Given the description of an element on the screen output the (x, y) to click on. 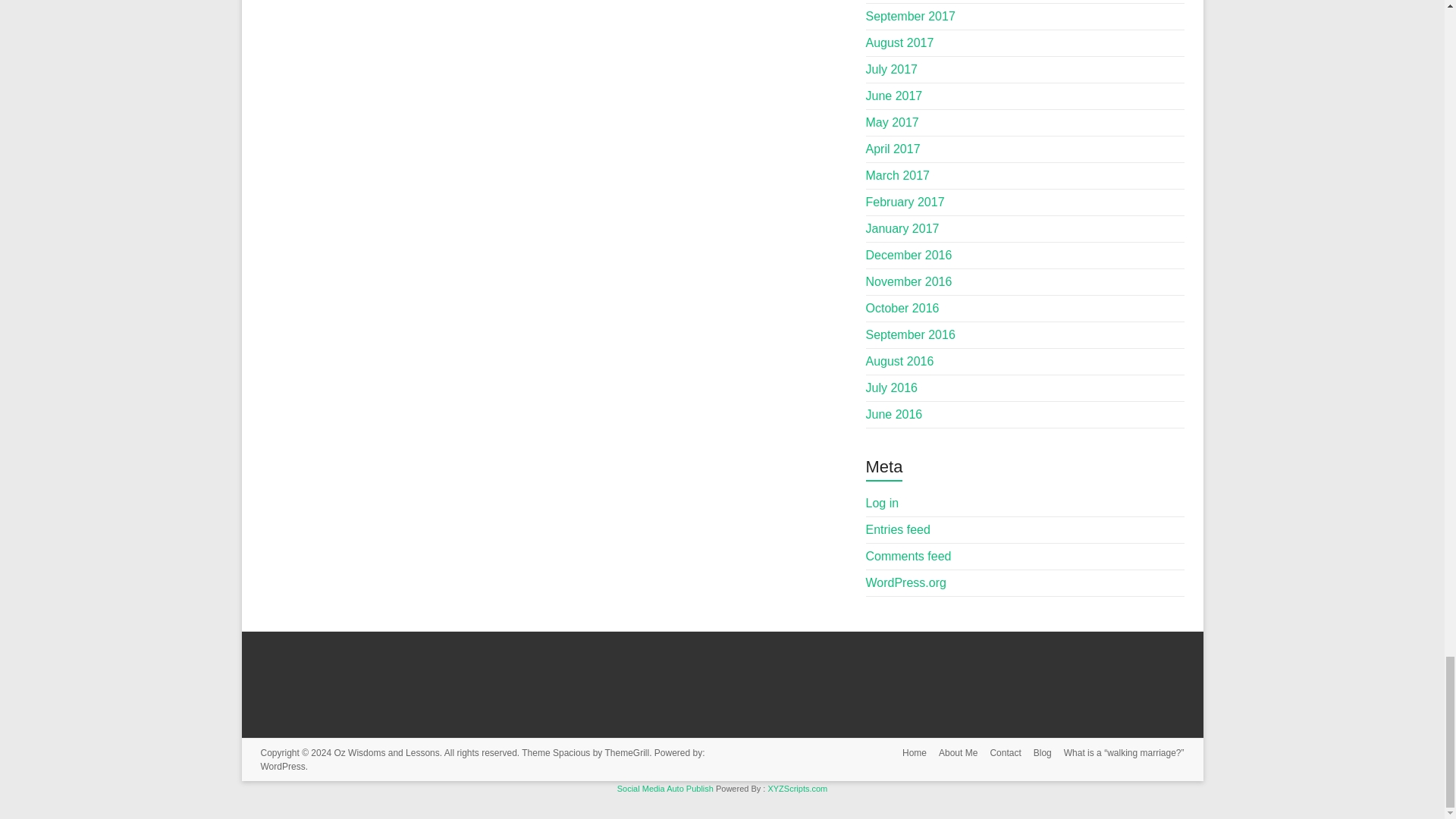
WordPress (282, 766)
Social Media Auto Publish (665, 788)
Oz Wisdoms and Lessons (386, 752)
Spacious (571, 752)
